Given the description of an element on the screen output the (x, y) to click on. 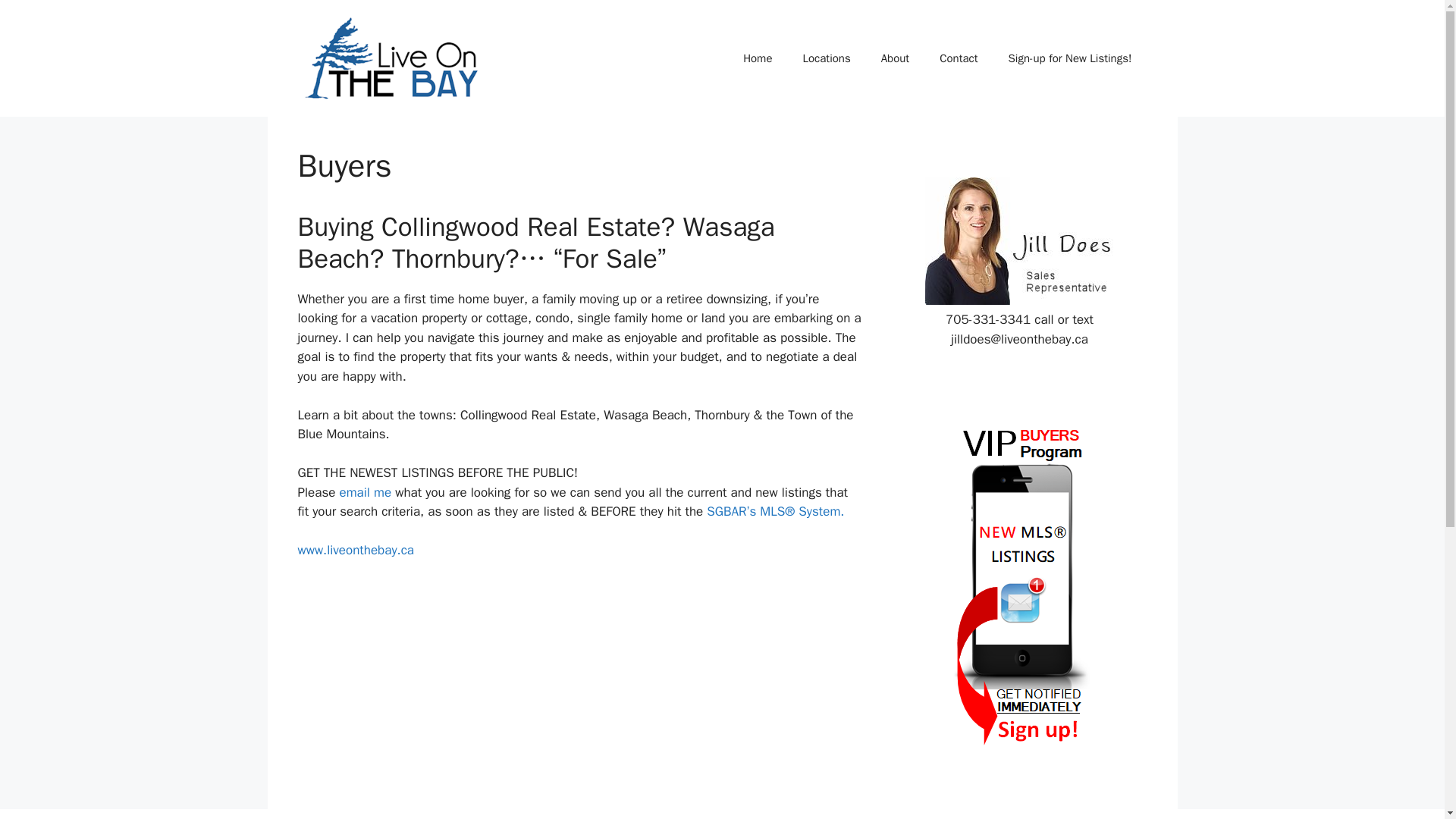
Sign-up for New Listings! (1069, 58)
www.liveonthebay.ca (355, 549)
Contact (958, 58)
Home (757, 58)
email me (367, 492)
About (895, 58)
Locations (825, 58)
